Given the description of an element on the screen output the (x, y) to click on. 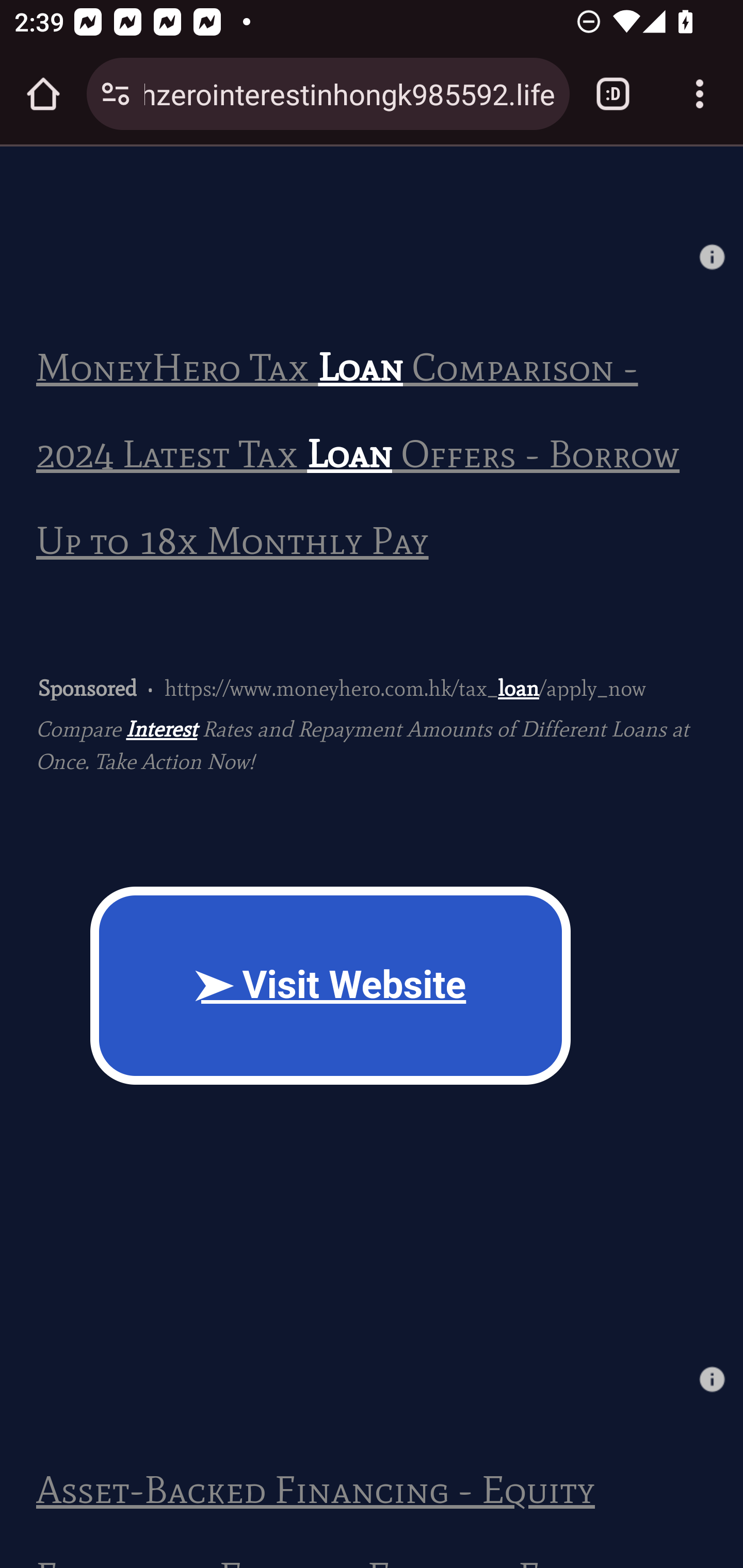
Open the home page (43, 93)
Connection is secure (115, 93)
Switch or close tabs (612, 93)
Customize and control Google Chrome (699, 93)
Why this ad? (711, 256)
➤ Visit Website (330, 984)
Why this ad? (711, 1378)
